Given the description of an element on the screen output the (x, y) to click on. 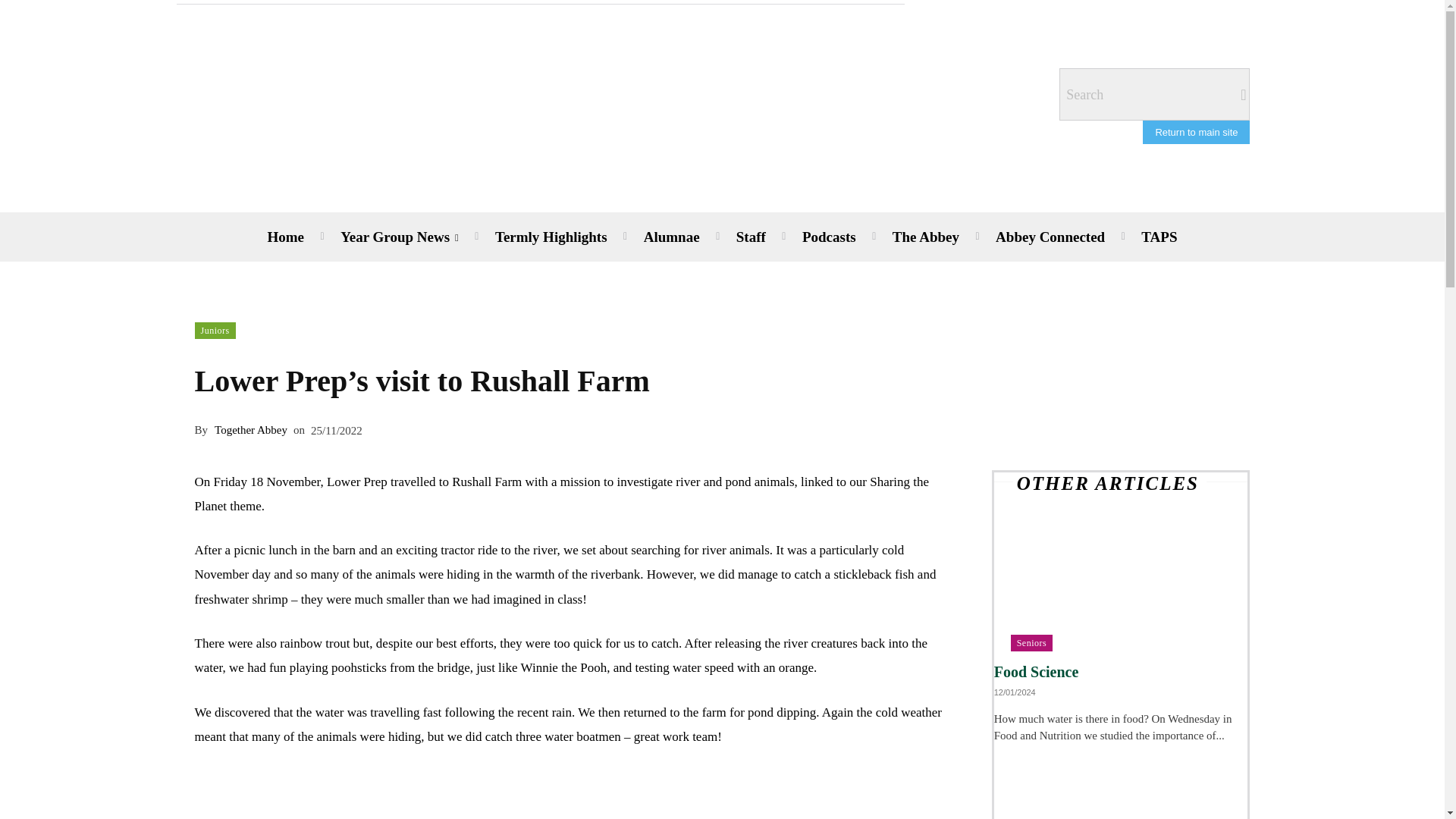
Year Group News (399, 236)
Return to main site (1195, 132)
Alumnae (671, 236)
Food Science (1036, 671)
IAPS Swimming qualifier (1120, 781)
Staff (750, 236)
Podcasts (828, 236)
Return to main site (1195, 132)
Food Science (1120, 587)
Termly Highlights (551, 236)
